Given the description of an element on the screen output the (x, y) to click on. 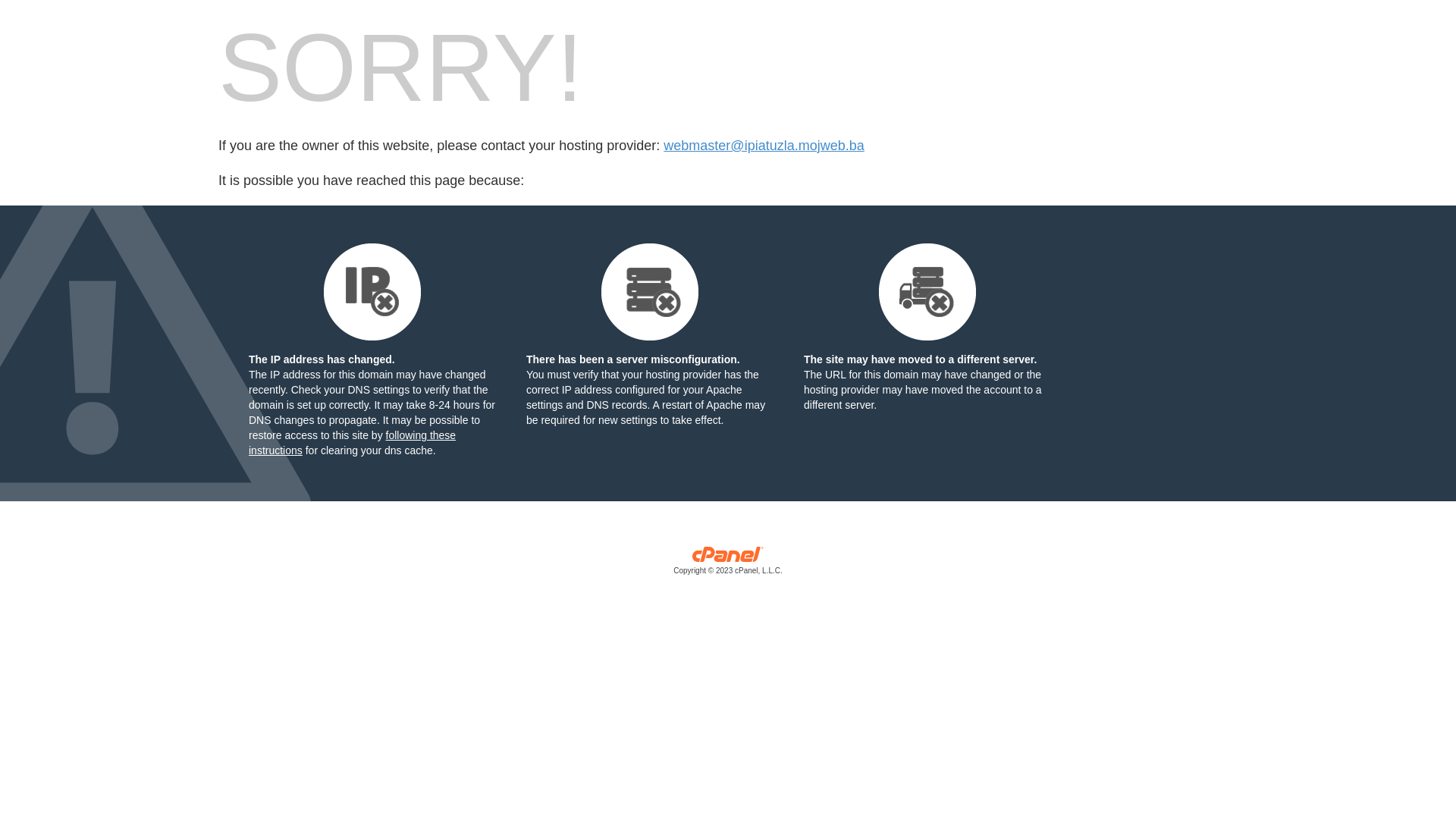
following these instructions Element type: text (351, 442)
webmaster@ipiatuzla.mojweb.ba Element type: text (763, 145)
